Given the description of an element on the screen output the (x, y) to click on. 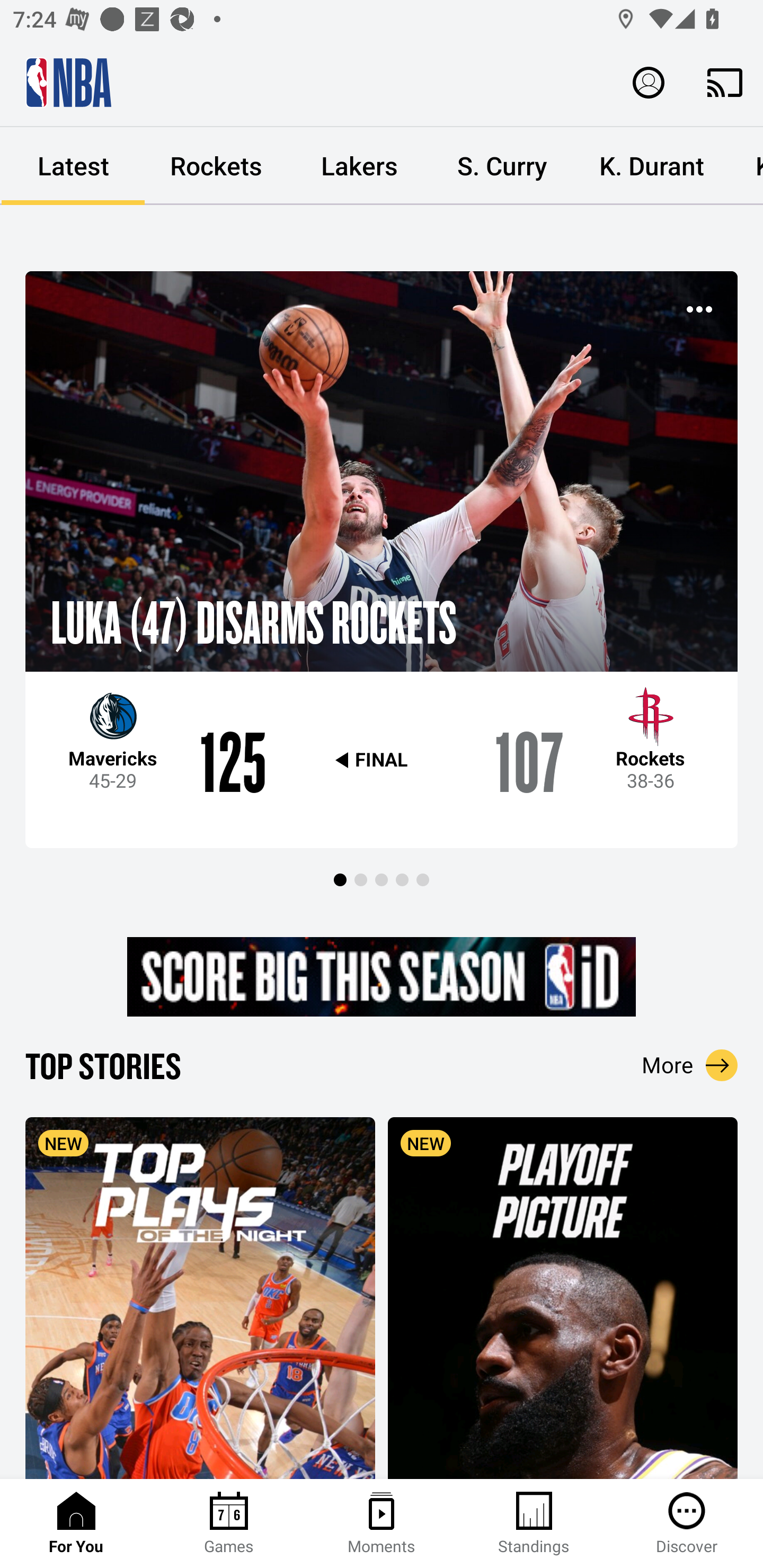
Cast. Disconnected (724, 82)
Profile (648, 81)
Rockets (215, 166)
Lakers (359, 166)
S. Curry (502, 166)
K. Durant (651, 166)
TOP STORIES More NEW NEW (381, 1260)
More (689, 1064)
NEW (200, 1297)
NEW (562, 1297)
Games (228, 1523)
Moments (381, 1523)
Standings (533, 1523)
Discover (686, 1523)
